Given the description of an element on the screen output the (x, y) to click on. 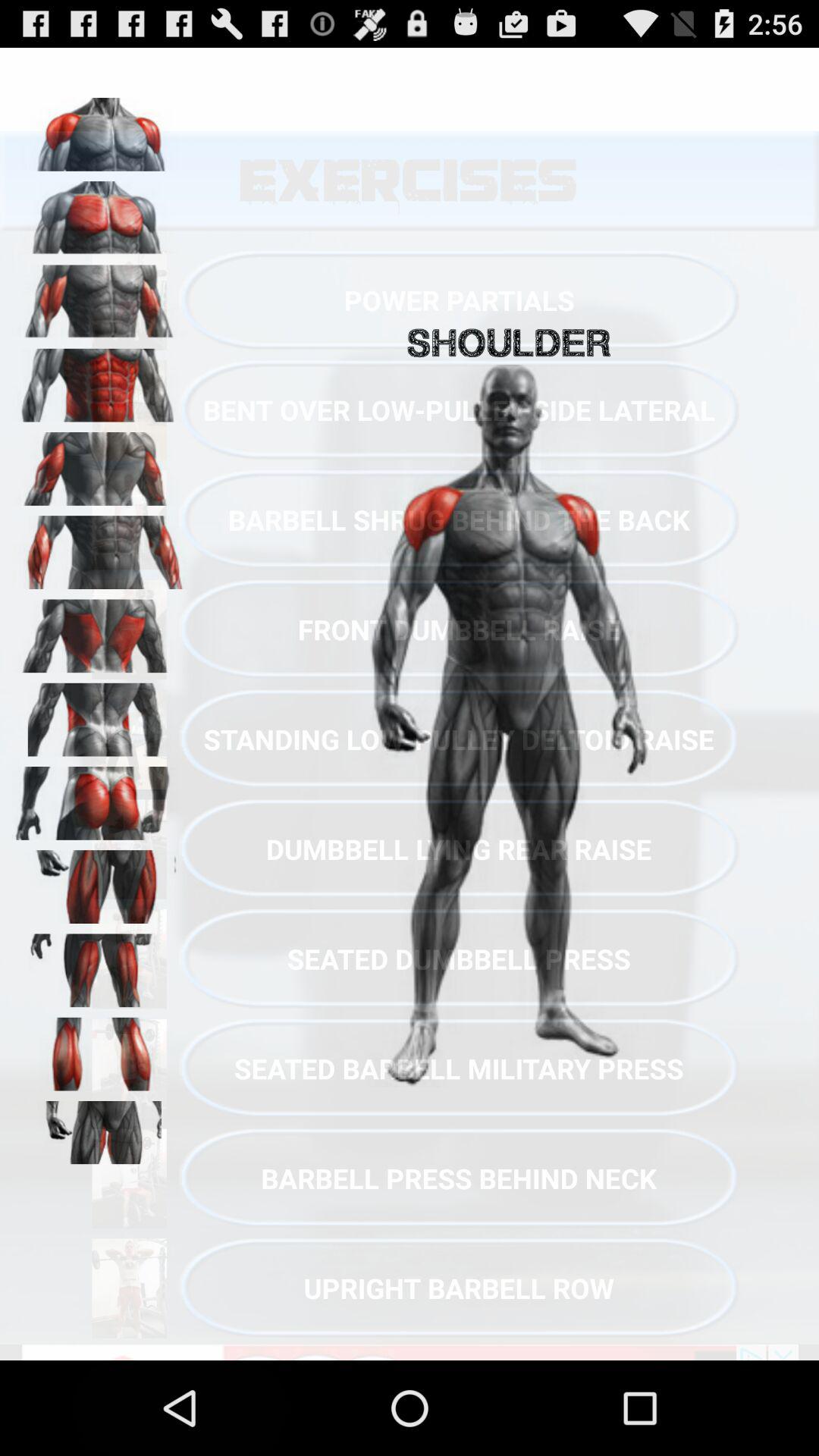
select calves (99, 1048)
